Given the description of an element on the screen output the (x, y) to click on. 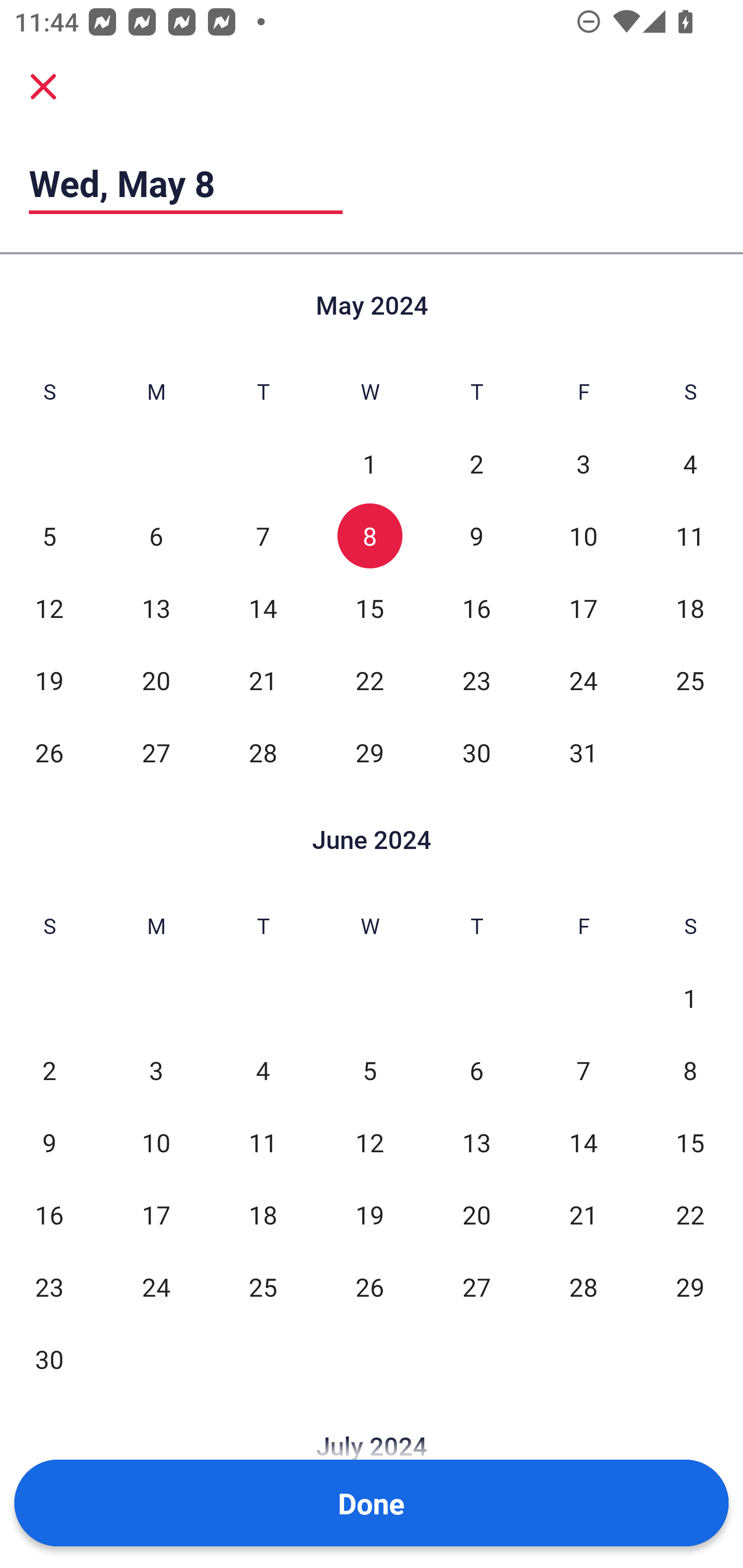
Cancel (43, 86)
Wed, May 8 (185, 182)
1 Wed, May 1, Not Selected (369, 464)
2 Thu, May 2, Not Selected (476, 464)
3 Fri, May 3, Not Selected (583, 464)
4 Sat, May 4, Not Selected (690, 464)
5 Sun, May 5, Not Selected (49, 536)
6 Mon, May 6, Not Selected (156, 536)
7 Tue, May 7, Not Selected (263, 536)
8 Wed, May 8, Selected (369, 536)
9 Thu, May 9, Not Selected (476, 536)
10 Fri, May 10, Not Selected (583, 536)
11 Sat, May 11, Not Selected (690, 536)
12 Sun, May 12, Not Selected (49, 608)
13 Mon, May 13, Not Selected (156, 608)
14 Tue, May 14, Not Selected (263, 608)
15 Wed, May 15, Not Selected (369, 608)
16 Thu, May 16, Not Selected (476, 608)
17 Fri, May 17, Not Selected (583, 608)
18 Sat, May 18, Not Selected (690, 608)
19 Sun, May 19, Not Selected (49, 680)
20 Mon, May 20, Not Selected (156, 680)
21 Tue, May 21, Not Selected (263, 680)
22 Wed, May 22, Not Selected (369, 680)
23 Thu, May 23, Not Selected (476, 680)
24 Fri, May 24, Not Selected (583, 680)
25 Sat, May 25, Not Selected (690, 680)
26 Sun, May 26, Not Selected (49, 752)
27 Mon, May 27, Not Selected (156, 752)
28 Tue, May 28, Not Selected (263, 752)
29 Wed, May 29, Not Selected (369, 752)
30 Thu, May 30, Not Selected (476, 752)
31 Fri, May 31, Not Selected (583, 752)
1 Sat, Jun 1, Not Selected (690, 997)
2 Sun, Jun 2, Not Selected (49, 1070)
3 Mon, Jun 3, Not Selected (156, 1070)
4 Tue, Jun 4, Not Selected (263, 1070)
5 Wed, Jun 5, Not Selected (369, 1070)
6 Thu, Jun 6, Not Selected (476, 1070)
7 Fri, Jun 7, Not Selected (583, 1070)
8 Sat, Jun 8, Not Selected (690, 1070)
9 Sun, Jun 9, Not Selected (49, 1143)
10 Mon, Jun 10, Not Selected (156, 1143)
11 Tue, Jun 11, Not Selected (263, 1143)
12 Wed, Jun 12, Not Selected (369, 1143)
13 Thu, Jun 13, Not Selected (476, 1143)
14 Fri, Jun 14, Not Selected (583, 1143)
15 Sat, Jun 15, Not Selected (690, 1143)
16 Sun, Jun 16, Not Selected (49, 1215)
17 Mon, Jun 17, Not Selected (156, 1215)
